Given the description of an element on the screen output the (x, y) to click on. 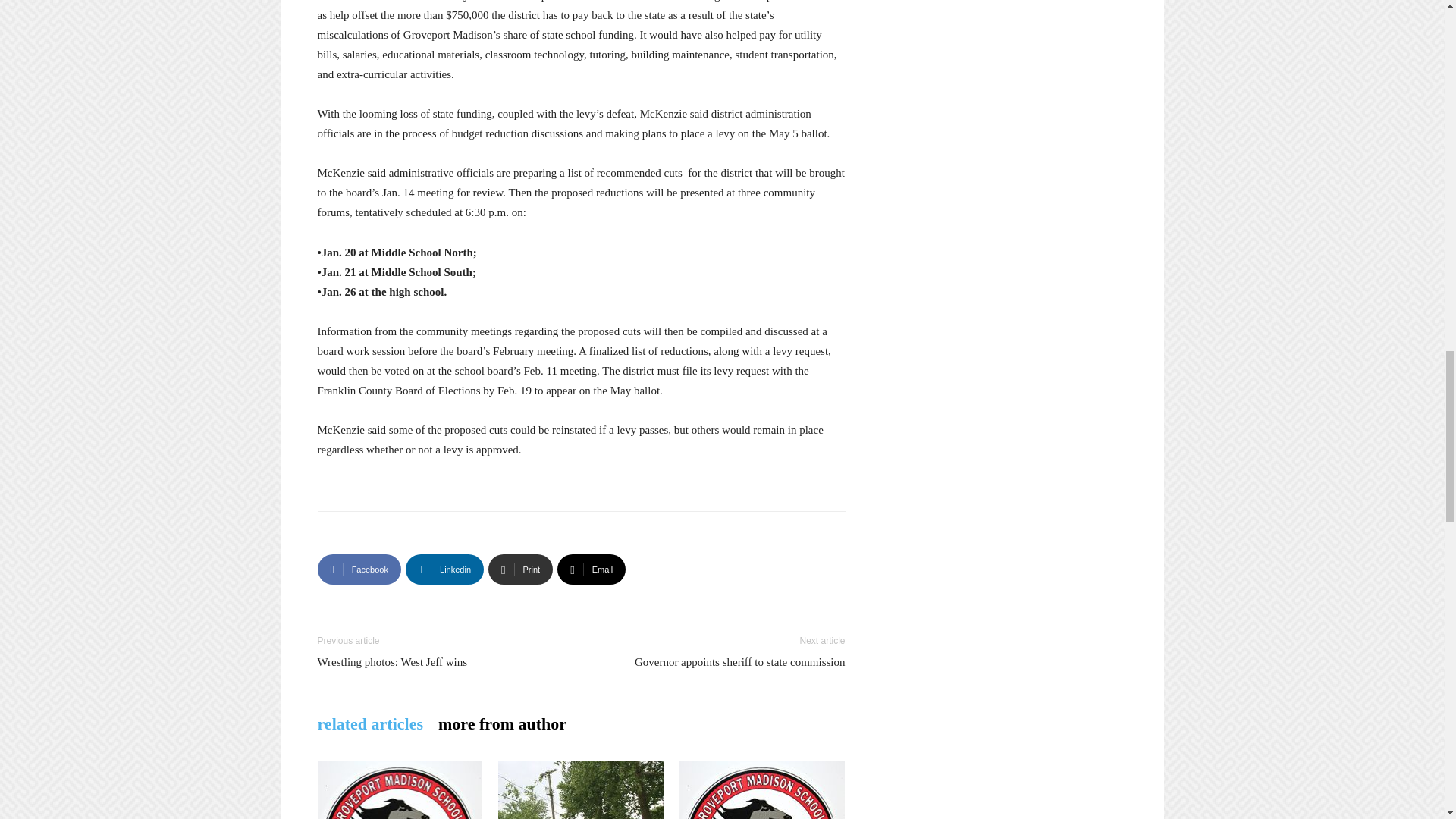
Storm smacks Groveport (580, 789)
Groveport Madison bond issue moves closer to the ballot (399, 789)
Email (591, 569)
Linkedin (444, 569)
bottomFacebookLike (430, 535)
Facebook (358, 569)
Free school lunches and breakfasts (761, 789)
Print (520, 569)
